Given the description of an element on the screen output the (x, y) to click on. 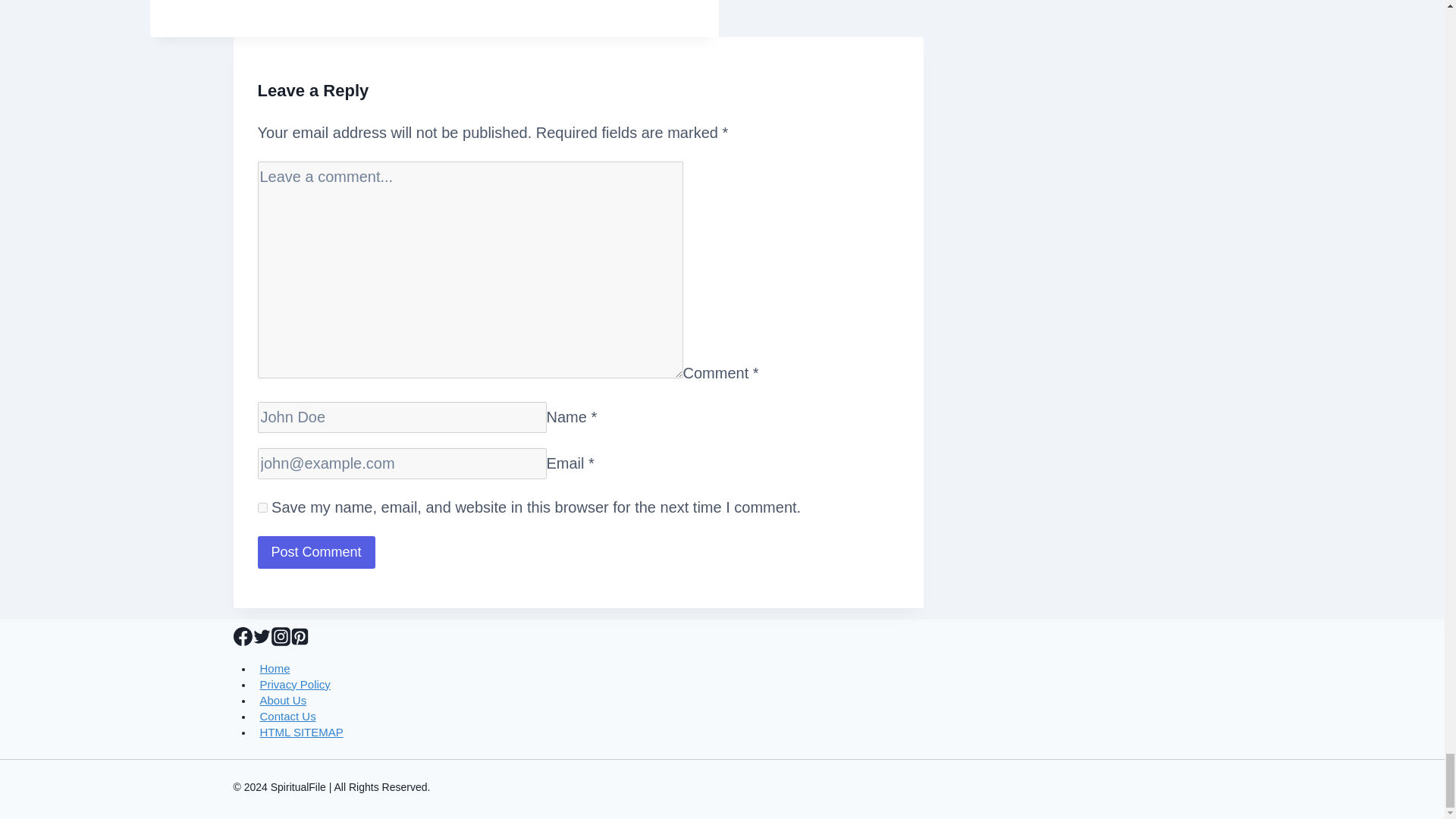
yes (262, 507)
Post Comment (316, 552)
